Given the description of an element on the screen output the (x, y) to click on. 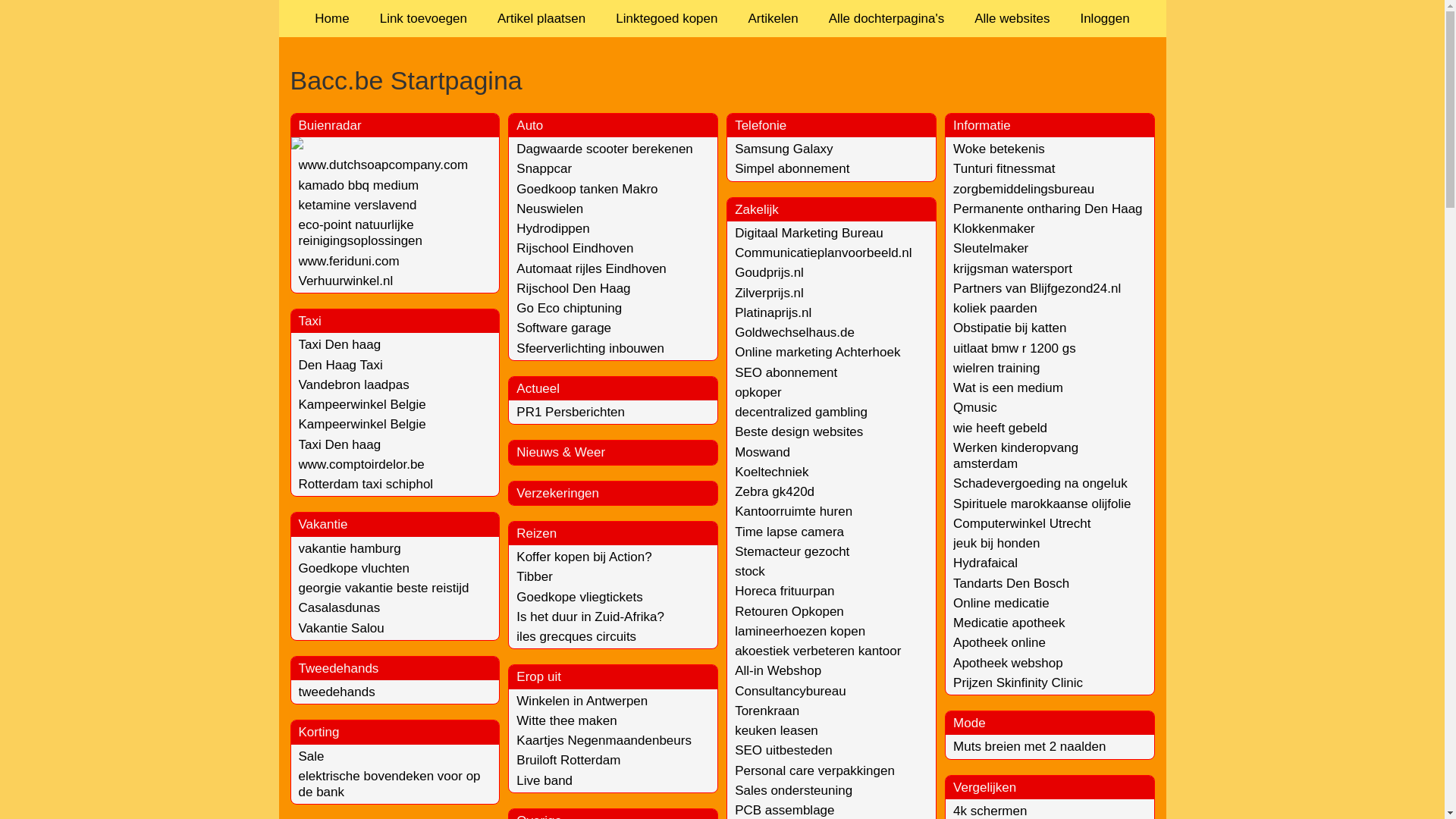
Tweedehands Element type: text (338, 668)
Samsung Galaxy Element type: text (783, 148)
Is het duur in Zuid-Afrika? Element type: text (590, 616)
Vakantie Salou Element type: text (341, 628)
Artikelen Element type: text (772, 18)
Sfeerverlichting inbouwen Element type: text (590, 348)
www.dutchsoapcompany.com Element type: text (383, 164)
elektrische bovendeken voor op de bank Element type: text (389, 783)
Alle websites Element type: text (1011, 18)
Simpel abonnement Element type: text (791, 168)
Casalasdunas Element type: text (339, 607)
Auto Element type: text (529, 125)
www.comptoirdelor.be Element type: text (361, 464)
Koffer kopen bij Action? Element type: text (583, 556)
Software garage Element type: text (563, 327)
Sales ondersteuning Element type: text (793, 790)
Rijschool Eindhoven Element type: text (574, 248)
All-in Webshop Element type: text (777, 670)
Wat is een medium Element type: text (1008, 387)
Link toevoegen Element type: text (423, 18)
Verhuurwinkel.nl Element type: text (345, 280)
opkoper Element type: text (757, 392)
Time lapse camera Element type: text (789, 531)
Tandarts Den Bosch Element type: text (1011, 583)
SEO uitbesteden Element type: text (783, 750)
keuken leasen Element type: text (776, 730)
uitlaat bmw r 1200 gs Element type: text (1014, 348)
Personal care verpakkingen Element type: text (814, 770)
ketamine verslavend Element type: text (357, 204)
Goedkope vluchten Element type: text (354, 568)
Witte thee maken Element type: text (566, 720)
Buienradar Element type: text (329, 125)
Communicatieplanvoorbeeld.nl Element type: text (822, 252)
Kaartjes Negenmaandenbeurs Element type: text (603, 740)
Sleutelmaker Element type: text (990, 248)
Inloggen Element type: text (1104, 18)
Vandebron laadpas Element type: text (353, 384)
Erop uit Element type: text (538, 676)
Telefonie Element type: text (760, 125)
Goldwechselhaus.de Element type: text (794, 332)
Kantoorruimte huren Element type: text (793, 511)
iles grecques circuits Element type: text (576, 636)
SEO abonnement Element type: text (785, 372)
Schadevergoeding na ongeluk Element type: text (1040, 483)
Korting Element type: text (318, 731)
Muts breien met 2 naalden Element type: text (1029, 746)
Prijzen Skinfinity Clinic Element type: text (1017, 682)
Zebra gk420d Element type: text (774, 491)
Rotterdam taxi schiphol Element type: text (365, 483)
Apotheek online Element type: text (999, 642)
Zakelijk Element type: text (756, 209)
Sale Element type: text (311, 756)
Partners van Blijfgezond24.nl Element type: text (1036, 288)
zorgbemiddelingsbureau Element type: text (1023, 189)
jeuk bij honden Element type: text (996, 543)
Actueel Element type: text (537, 388)
Rijschool Den Haag Element type: text (573, 288)
Snappcar Element type: text (543, 168)
Alle dochterpagina's Element type: text (886, 18)
Vergelijken Element type: text (984, 787)
Goudprijs.nl Element type: text (768, 272)
Kampeerwinkel Belgie Element type: text (362, 424)
Torenkraan Element type: text (766, 710)
Zilverprijs.nl Element type: text (768, 292)
Retouren Opkopen Element type: text (789, 611)
Kampeerwinkel Belgie Element type: text (362, 404)
wielren training Element type: text (996, 367)
Digitaal Marketing Bureau Element type: text (808, 232)
Werken kinderopvang amsterdam Element type: text (1015, 455)
kamado bbq medium Element type: text (358, 185)
Bruiloft Rotterdam Element type: text (568, 760)
akoestiek verbeteren kantoor Element type: text (817, 650)
tweedehands Element type: text (336, 691)
PCB assemblage Element type: text (784, 810)
Woke betekenis Element type: text (998, 148)
Moswand Element type: text (762, 452)
PR1 Persberichten Element type: text (570, 411)
stock Element type: text (749, 571)
Taxi Den haag Element type: text (339, 344)
Artikel plaatsen Element type: text (541, 18)
Beste design websites Element type: text (798, 431)
4k schermen Element type: text (989, 810)
Platinaprijs.nl Element type: text (772, 312)
Taxi Element type: text (309, 320)
Home Element type: text (331, 18)
Winkelen in Antwerpen Element type: text (581, 700)
Dagwaarde scooter berekenen Element type: text (604, 148)
georgie vakantie beste reistijd Element type: text (383, 587)
decentralized gambling Element type: text (800, 411)
Automaat rijles Eindhoven Element type: text (591, 268)
Tunturi fitnessmat Element type: text (1003, 168)
Online medicatie Element type: text (1001, 603)
koliek paarden Element type: text (995, 308)
Taxi Den haag Element type: text (339, 444)
Qmusic Element type: text (975, 407)
eco-point natuurlijke reinigingsoplossingen Element type: text (360, 232)
lamineerhoezen kopen Element type: text (799, 631)
Verzekeringen Element type: text (557, 493)
Hydrodippen Element type: text (552, 228)
Koeltechniek Element type: text (771, 471)
Informatie Element type: text (981, 125)
Spirituele marokkaanse olijfolie Element type: text (1041, 503)
vakantie hamburg Element type: text (349, 548)
Hydrafaical Element type: text (985, 562)
Live band Element type: text (544, 780)
Consultancybureau Element type: text (789, 691)
Nieuws & Weer Element type: text (560, 452)
Mode Element type: text (969, 722)
Den Haag Taxi Element type: text (340, 364)
Medicatie apotheek Element type: text (1008, 622)
Neuswielen Element type: text (549, 208)
www.feriduni.com Element type: text (348, 261)
Obstipatie bij katten Element type: text (1009, 327)
Vakantie Element type: text (323, 524)
Go Eco chiptuning Element type: text (568, 308)
Horeca frituurpan Element type: text (784, 590)
Online marketing Achterhoek Element type: text (817, 352)
Goedkope vliegtickets Element type: text (579, 596)
Reizen Element type: text (536, 533)
Goedkoop tanken Makro Element type: text (586, 189)
Linktegoed kopen Element type: text (666, 18)
Permanente ontharing Den Haag Element type: text (1047, 208)
krijgsman watersport Element type: text (1012, 268)
Stemacteur gezocht Element type: text (791, 551)
Klokkenmaker Element type: text (994, 228)
Bacc.be Startpagina Element type: text (721, 80)
Tibber Element type: text (534, 576)
Computerwinkel Utrecht Element type: text (1021, 523)
Apotheek webshop Element type: text (1008, 662)
wie heeft gebeld Element type: text (1000, 427)
